Given the description of an element on the screen output the (x, y) to click on. 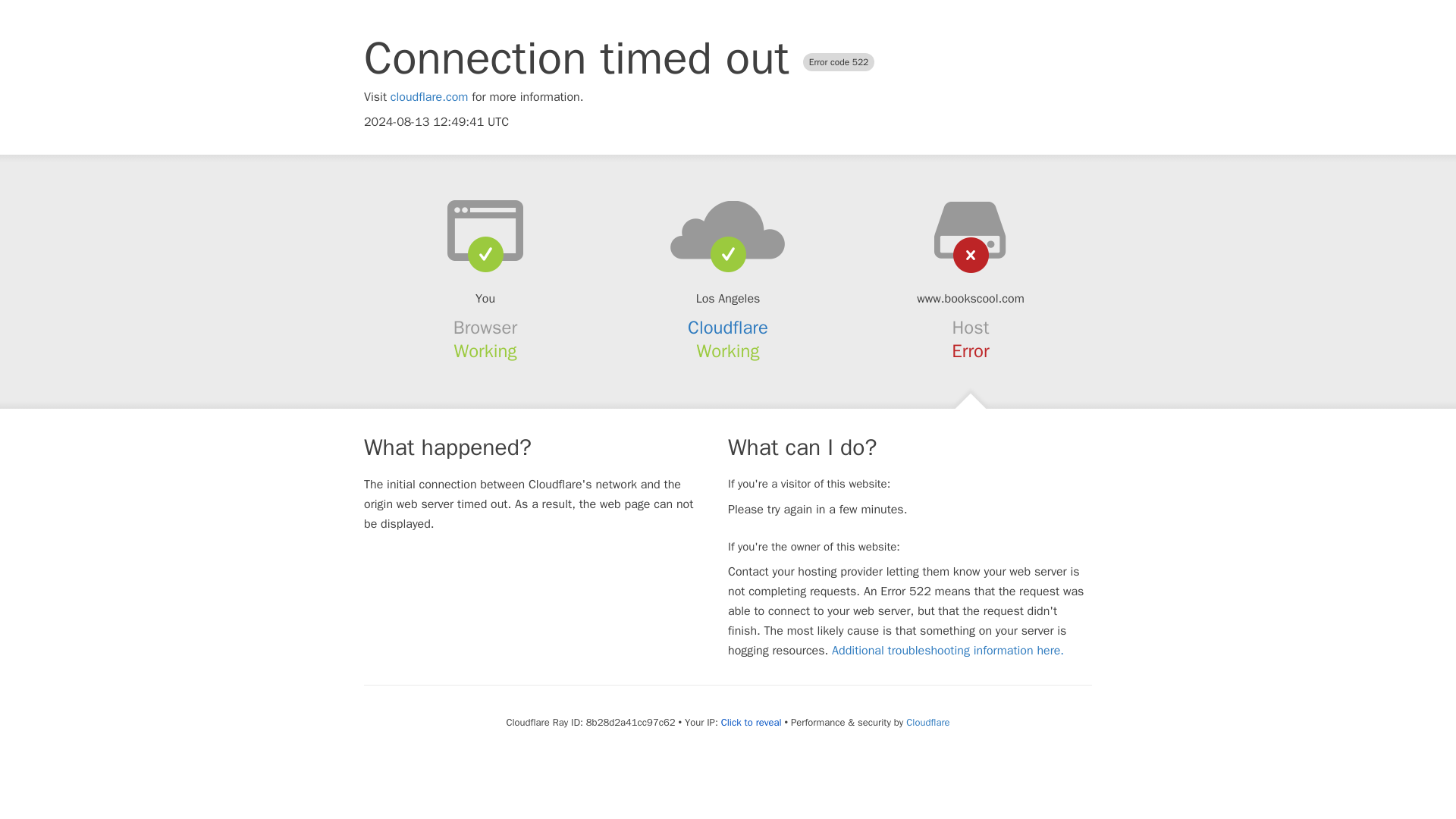
Cloudflare (727, 327)
Cloudflare (927, 721)
Click to reveal (750, 722)
cloudflare.com (429, 96)
Additional troubleshooting information here. (947, 650)
